Given the description of an element on the screen output the (x, y) to click on. 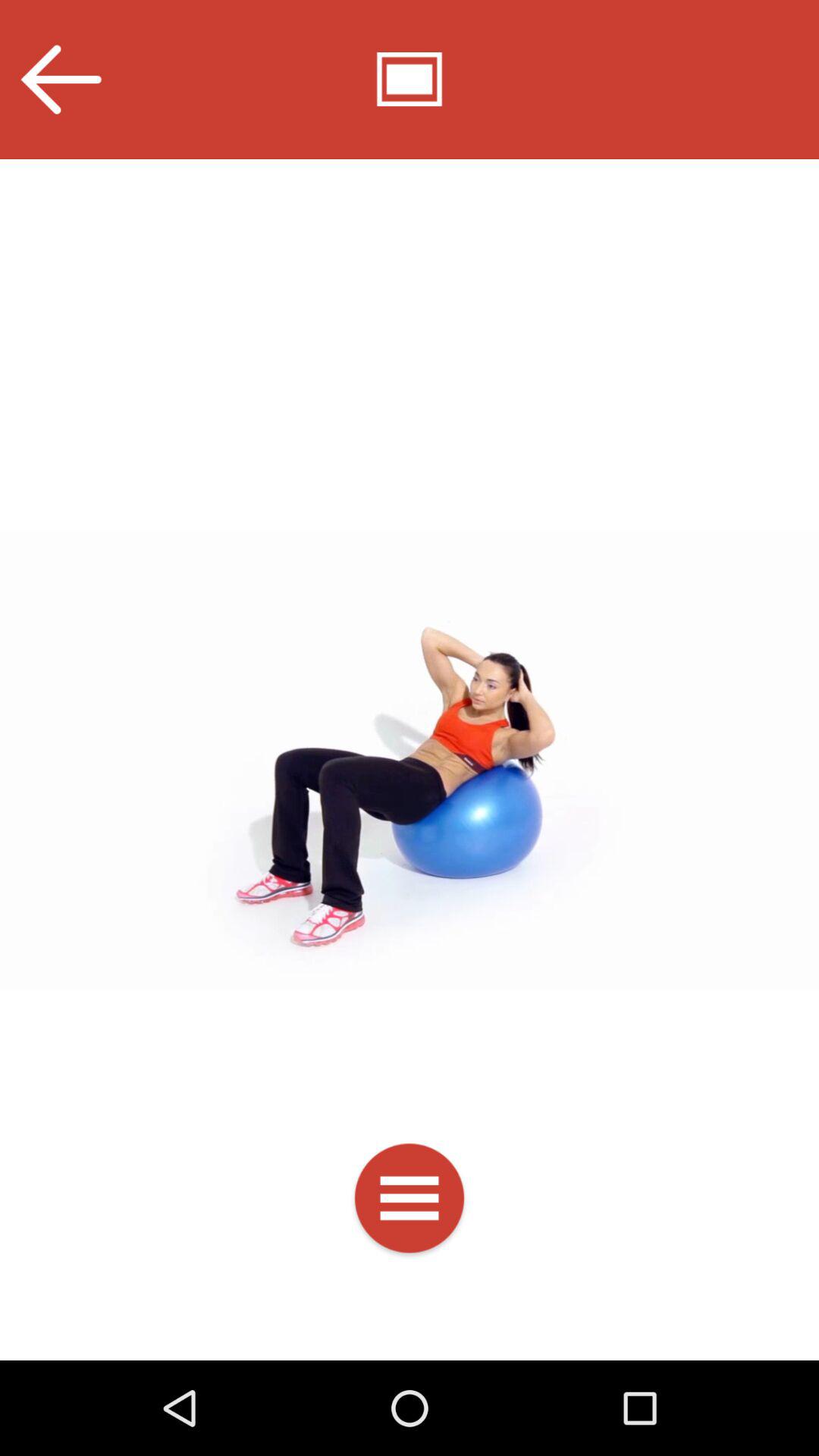
go to back (59, 79)
